Given the description of an element on the screen output the (x, y) to click on. 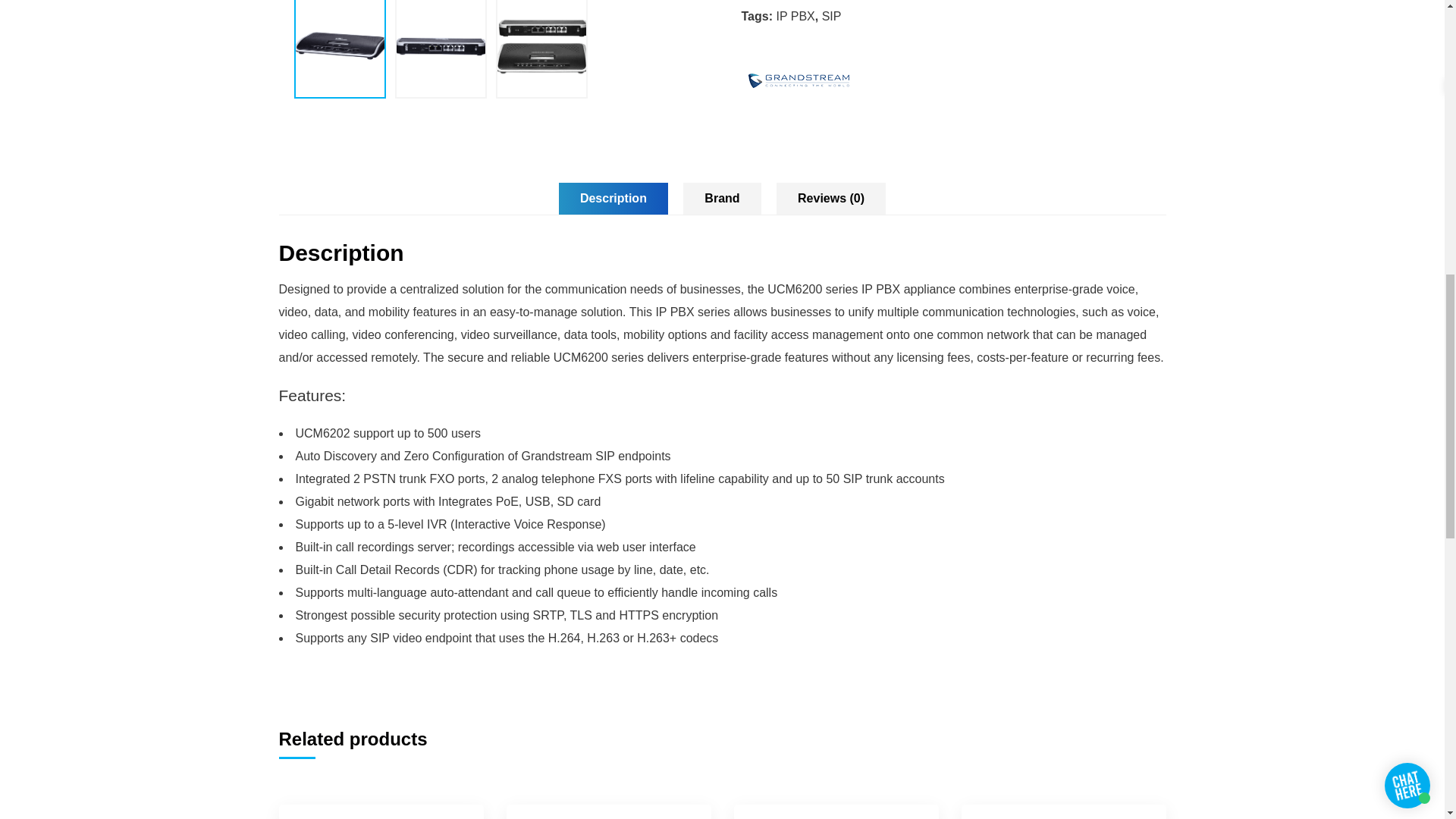
GrandStream (798, 8)
